Given the description of an element on the screen output the (x, y) to click on. 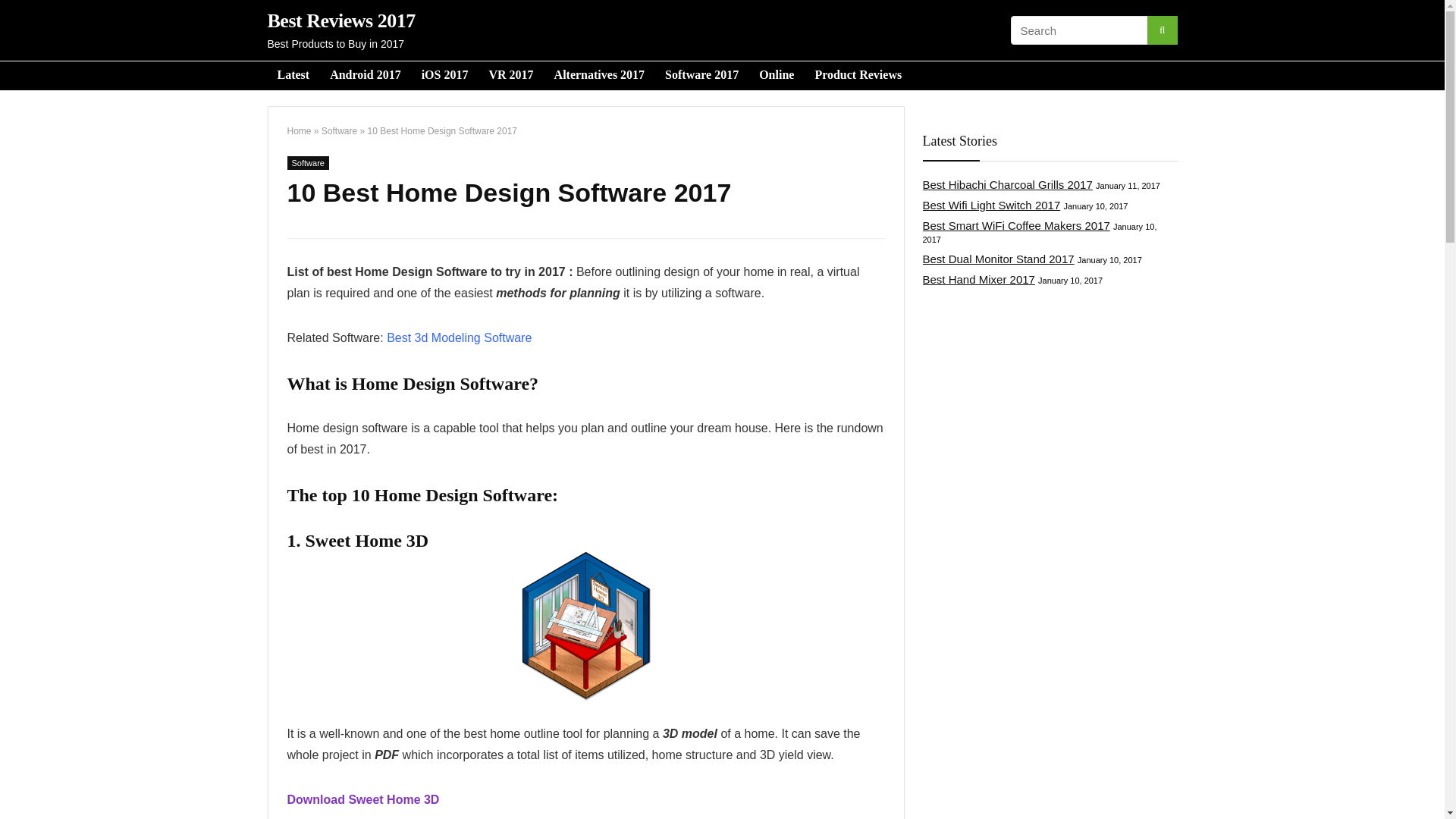
Software 2017 (701, 75)
Home (298, 131)
Latest (292, 75)
VR 2017 (511, 75)
Alternatives 2017 (599, 75)
Online (776, 75)
Product Reviews (858, 75)
Android 2017 (365, 75)
Software (338, 131)
Best 3d Modeling Software (459, 337)
